Given the description of an element on the screen output the (x, y) to click on. 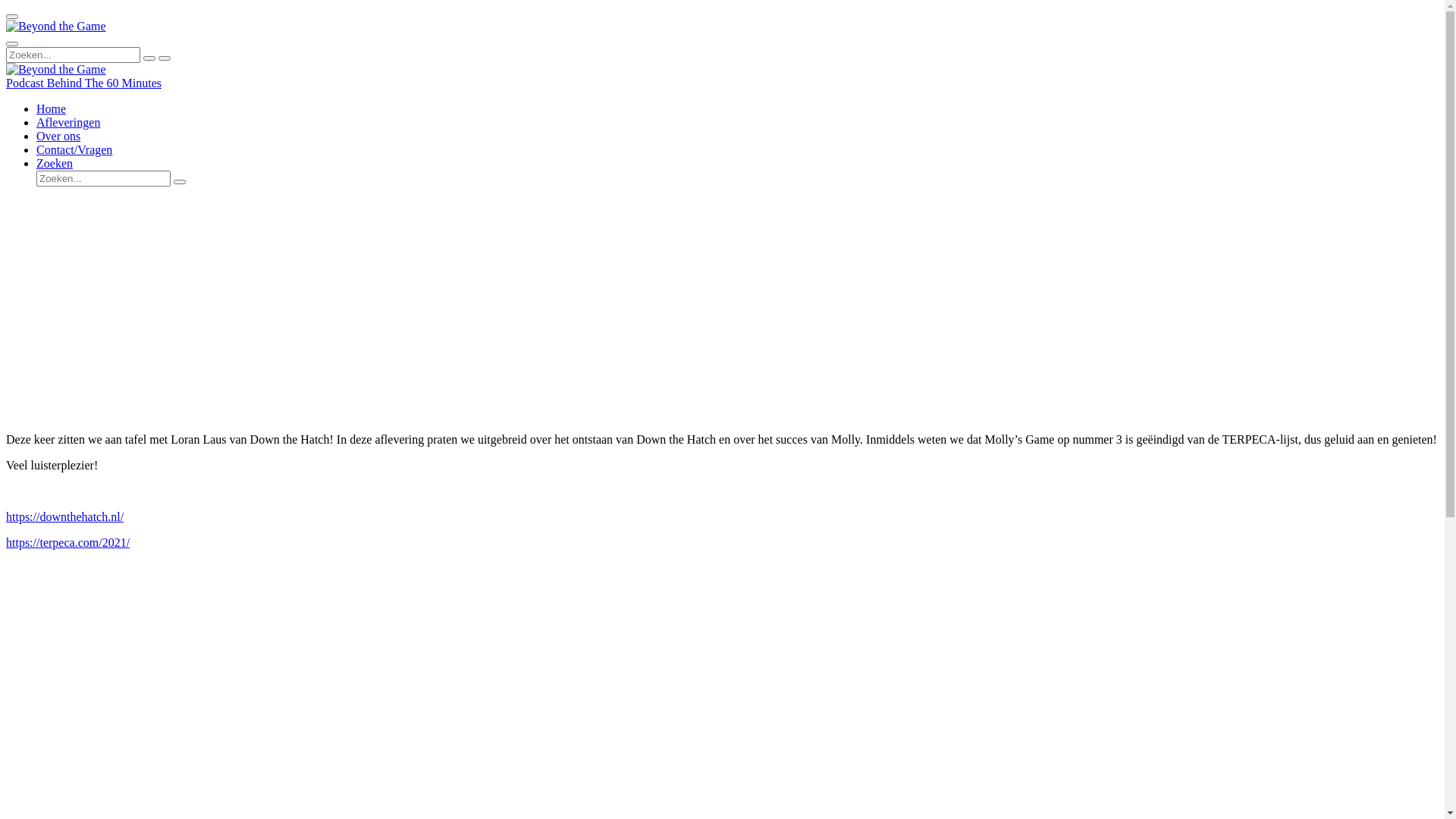
Zoeken Element type: text (54, 162)
Podcast Behind The 60 Minutes Element type: text (83, 82)
https://downthehatch.nl/ Element type: text (64, 516)
Beyond the Game Element type: hover (56, 26)
Contact/Vragen Element type: text (74, 149)
Afleveringen Element type: text (68, 122)
Beyond the Game Element type: hover (56, 69)
Home Element type: text (50, 108)
https://terpeca.com/2021/ Element type: text (67, 542)
Over ons Element type: text (58, 135)
